Given the description of an element on the screen output the (x, y) to click on. 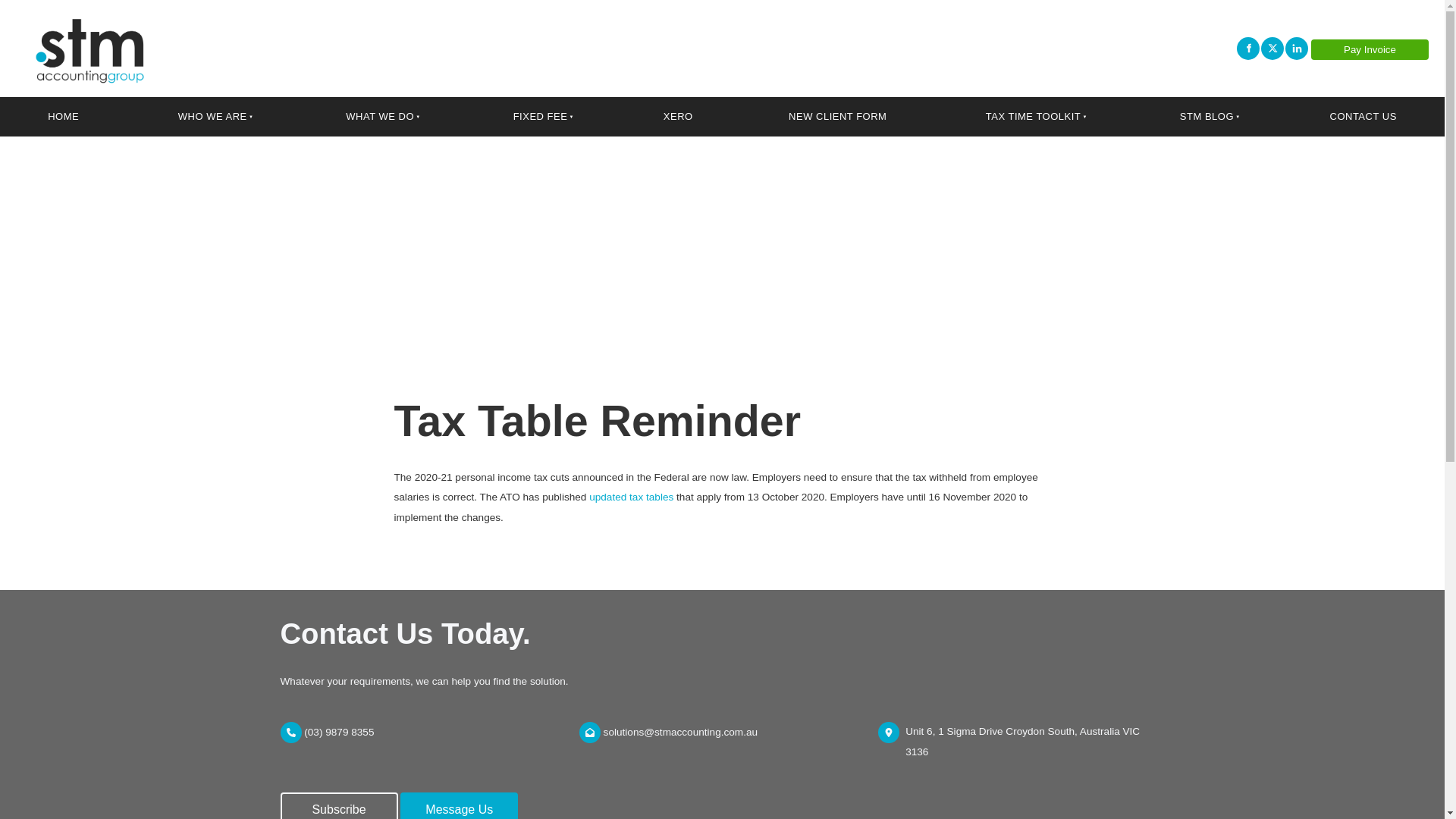
NEW CLIENT FORM (837, 116)
HOME (63, 116)
TAX TIME TOOLKIT (1031, 116)
FIXED FEE (537, 116)
Message Us (459, 805)
Facebook (1247, 47)
XERO (678, 116)
updated tax tables (630, 496)
LinkedIn (1296, 47)
PAY INVOICE (1369, 49)
